Given the description of an element on the screen output the (x, y) to click on. 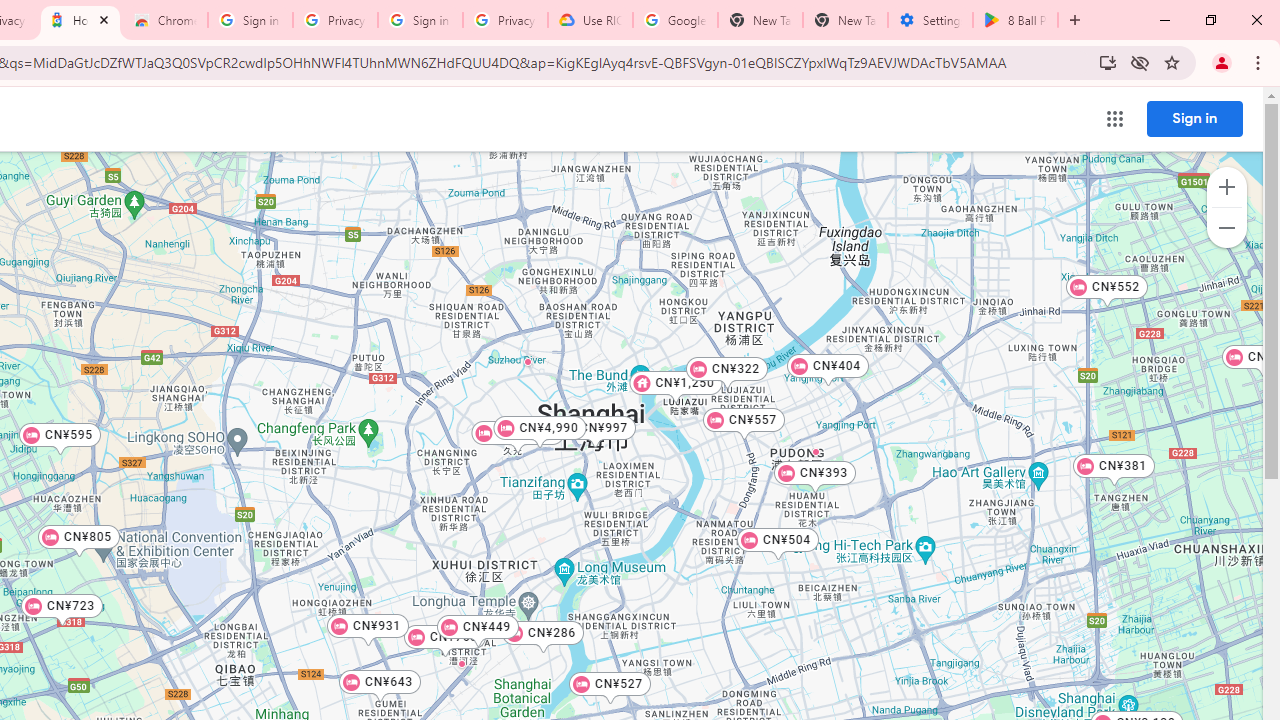
Sign in - Google Accounts (250, 20)
Zoom out map (1226, 227)
Settings - System (930, 20)
